Given the description of an element on the screen output the (x, y) to click on. 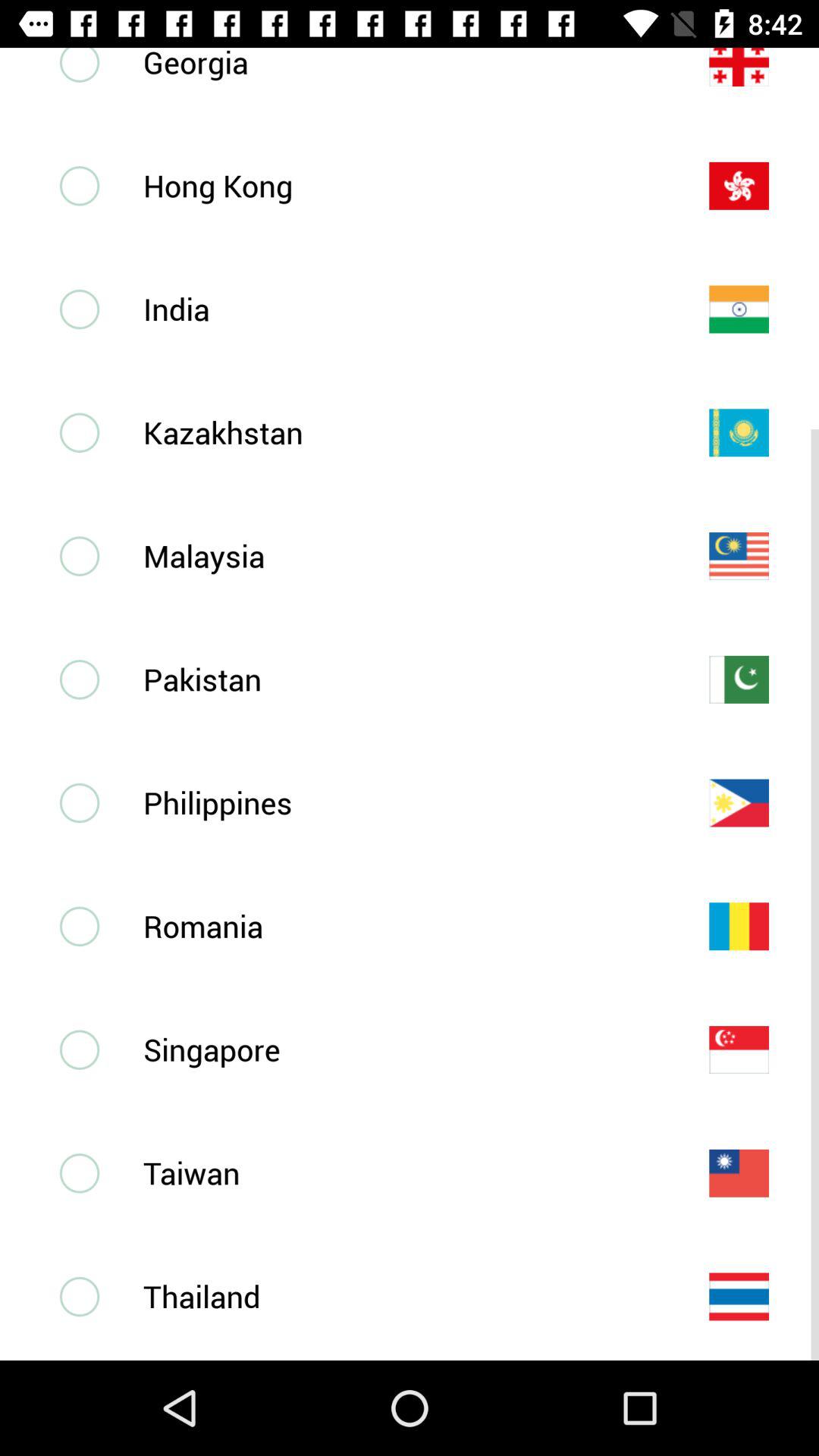
launch the pakistan item (401, 679)
